Given the description of an element on the screen output the (x, y) to click on. 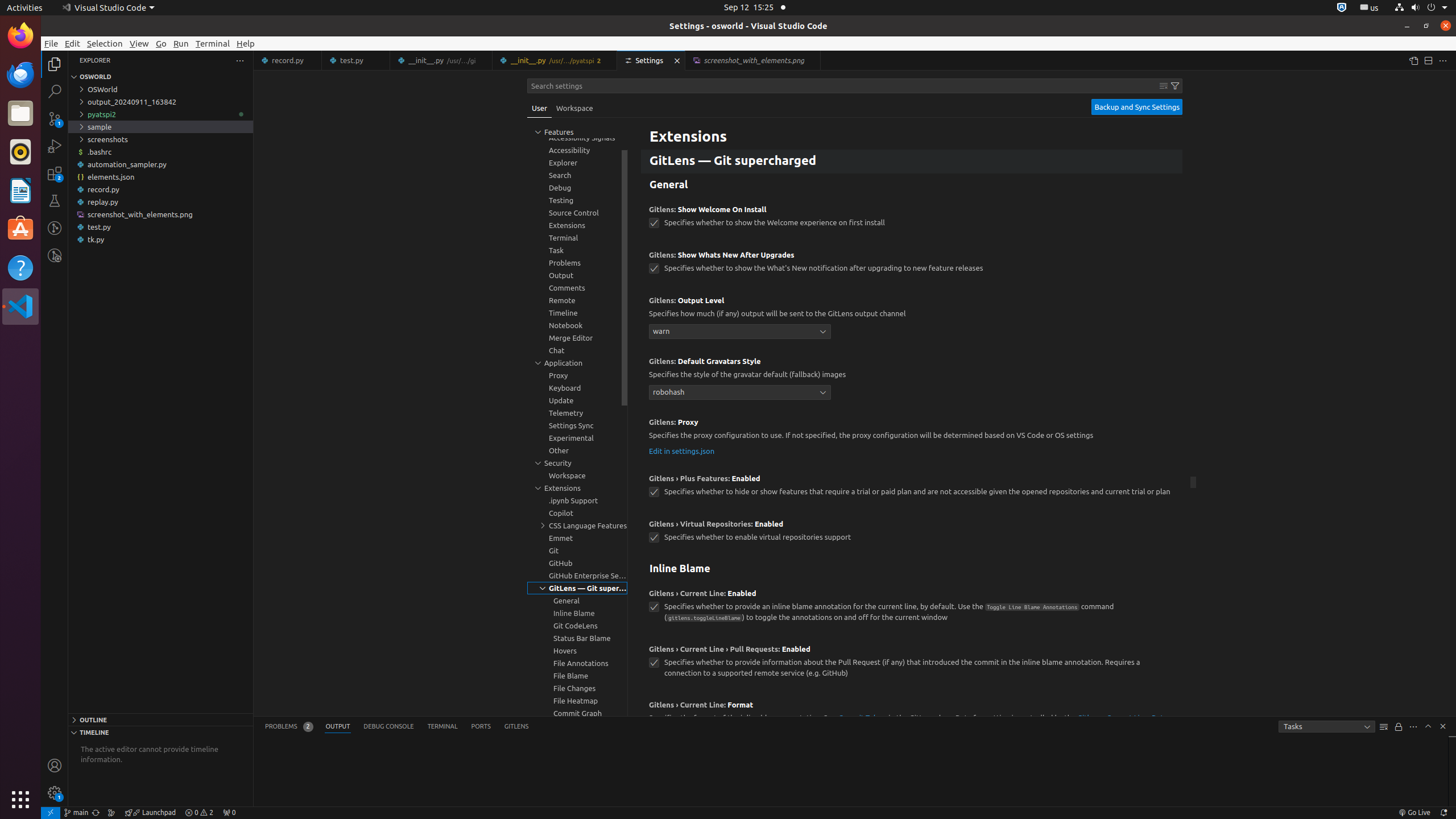
gitlens.currentLine.pullRequests.enabled Element type: check-box (653, 662)
Search, group Element type: tree-item (577, 174)
Copilot, group Element type: tree-item (577, 512)
GitLens Inspect Element type: page-tab (54, 255)
Status Bar Blame, group Element type: tree-item (577, 637)
